Given the description of an element on the screen output the (x, y) to click on. 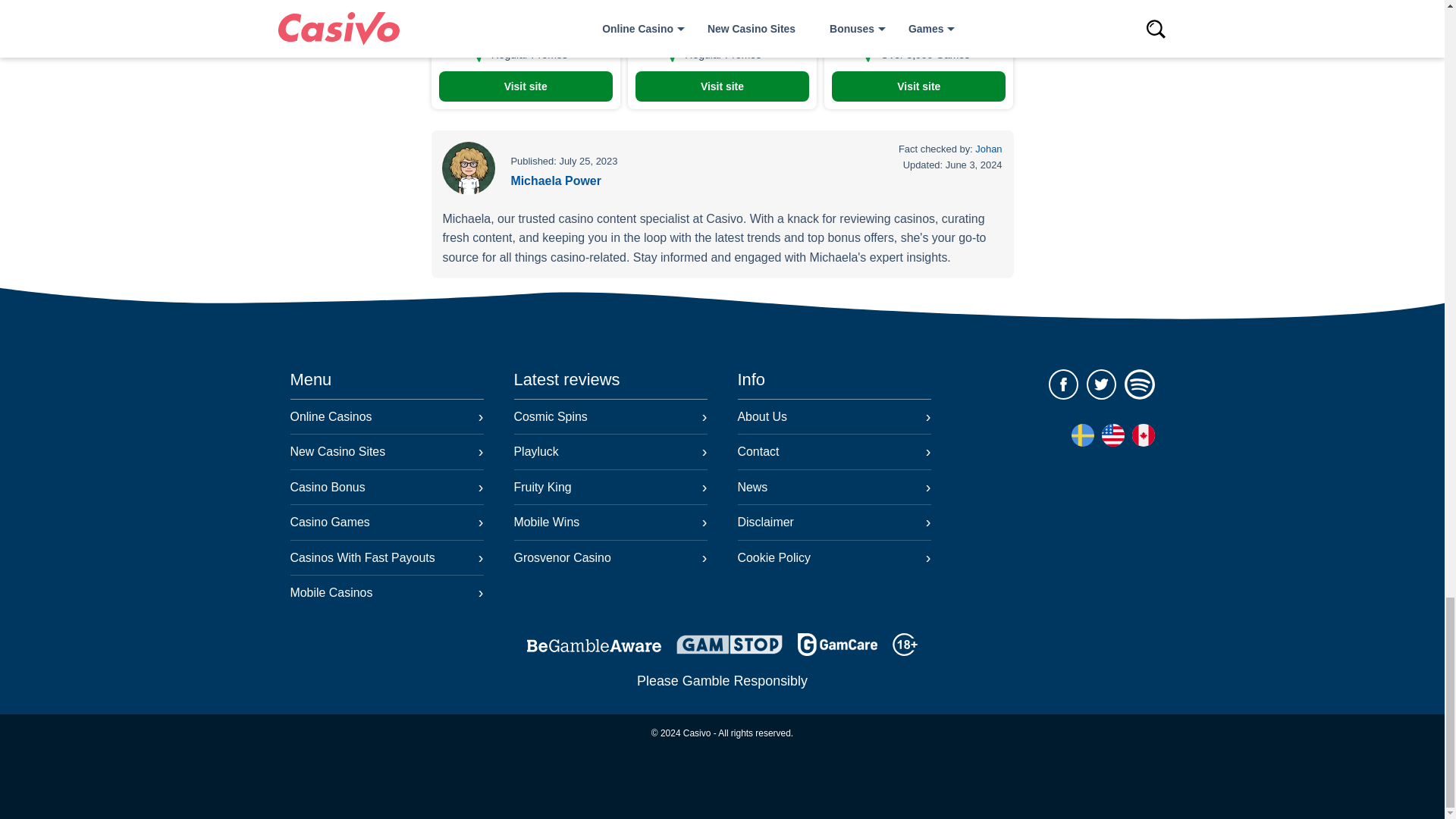
Michaela Power (555, 180)
Visit site (721, 86)
Visit site (918, 86)
Visit site (524, 86)
